Given the description of an element on the screen output the (x, y) to click on. 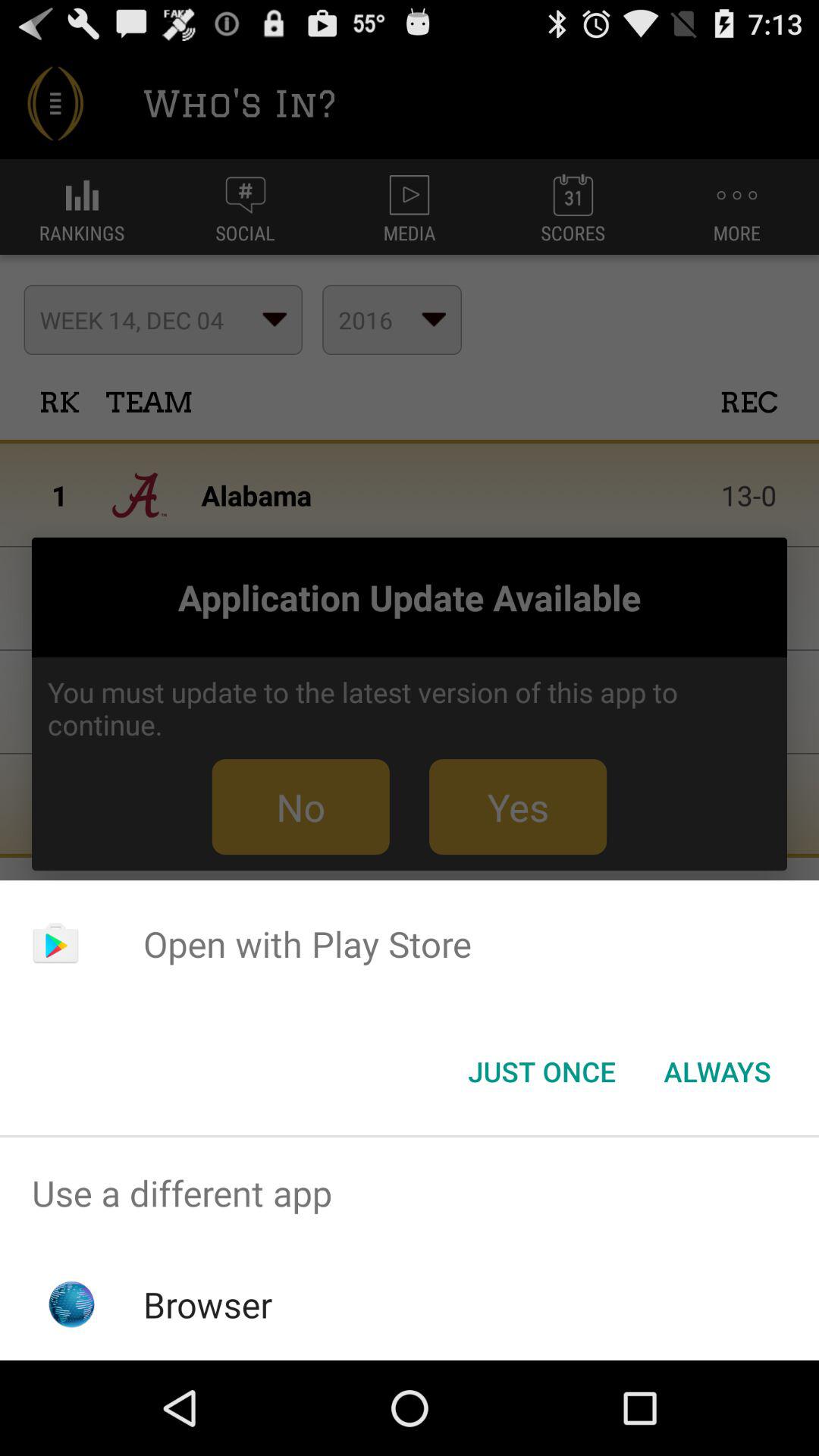
tap item above browser app (409, 1192)
